Given the description of an element on the screen output the (x, y) to click on. 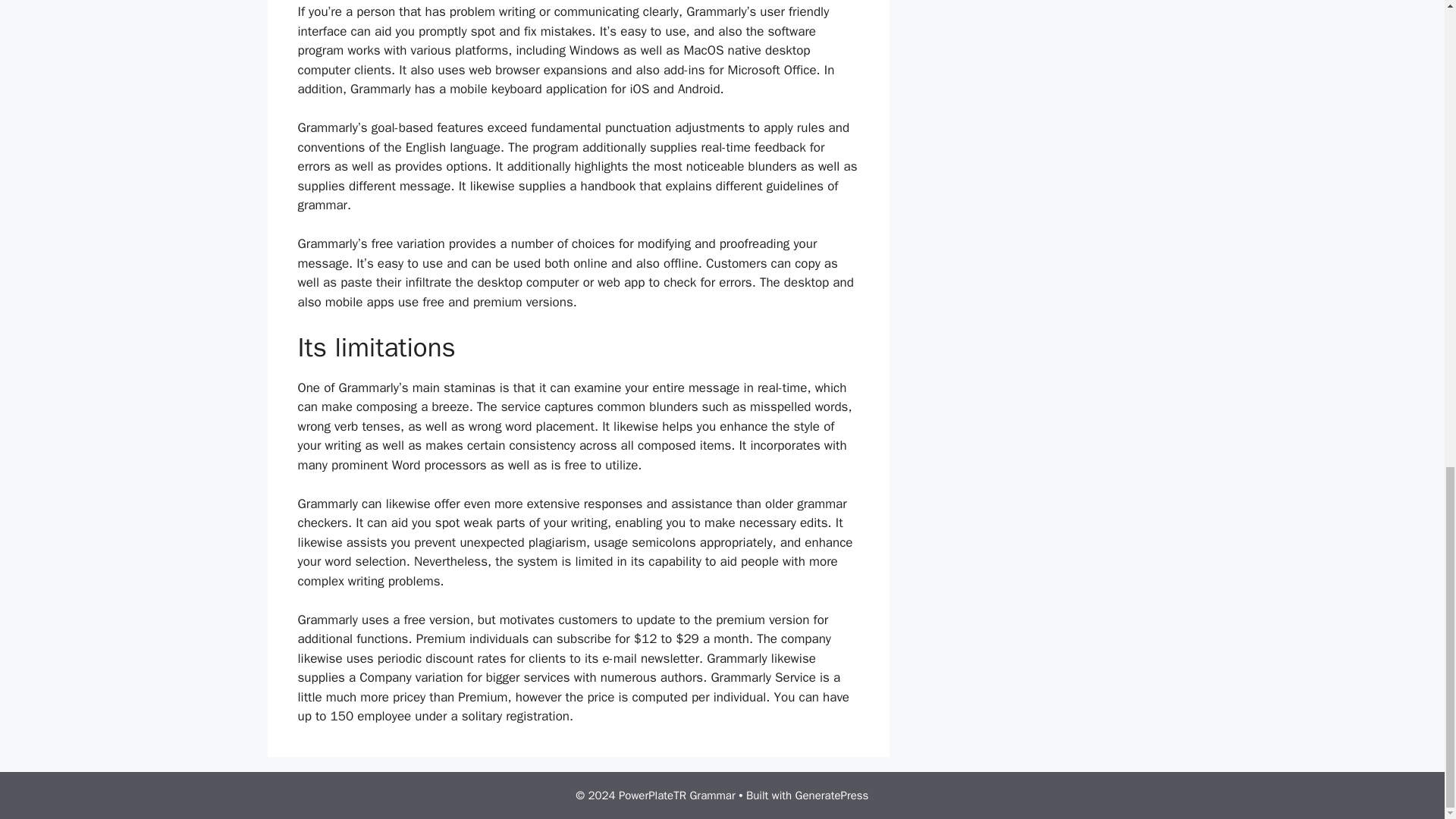
GeneratePress (831, 795)
